Given the description of an element on the screen output the (x, y) to click on. 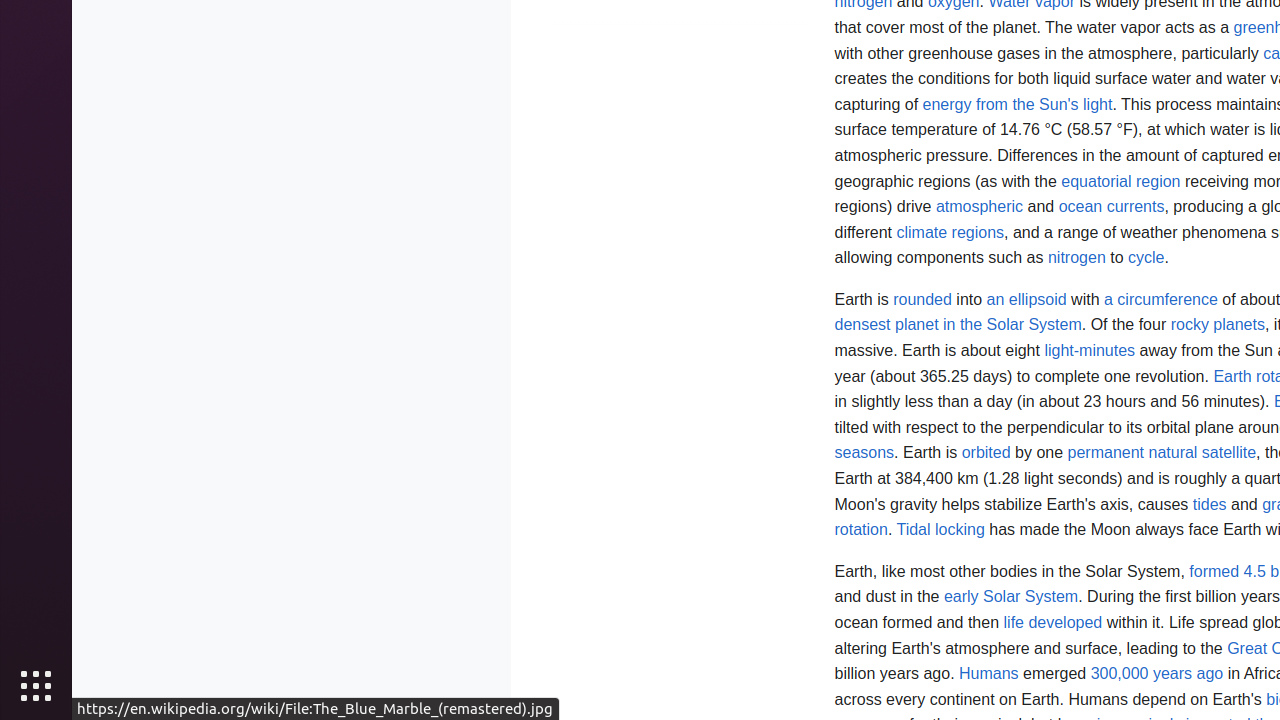
orbited Element type: link (986, 453)
ocean currents Element type: link (1111, 207)
light-minutes Element type: link (1090, 351)
cycle Element type: link (1146, 258)
tides Element type: link (1209, 504)
